Given the description of an element on the screen output the (x, y) to click on. 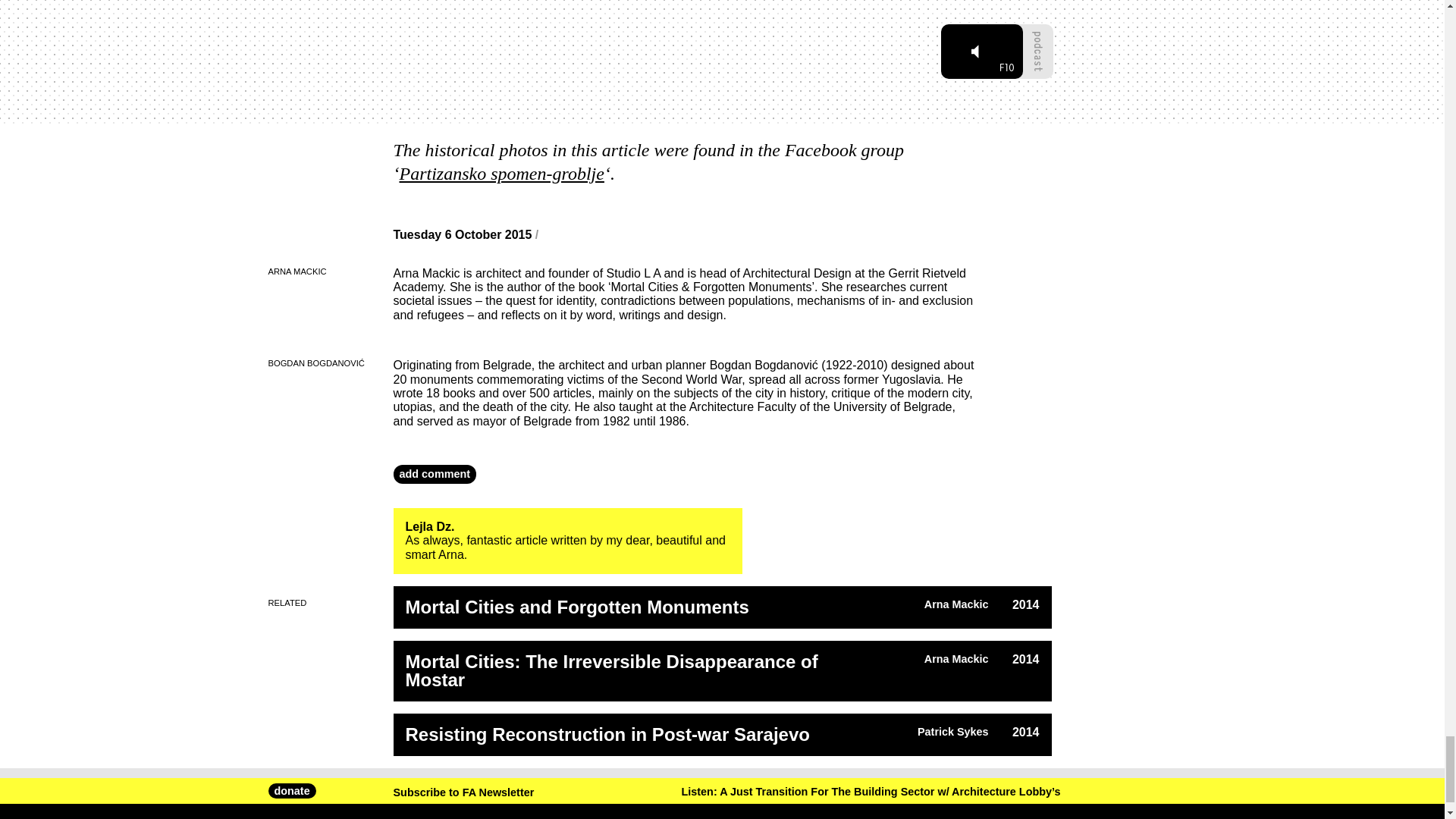
Arna Mackic (956, 604)
ARNA MACKIC (296, 271)
Mortal Cities and Forgotten Monuments (642, 607)
Patrick Sykes (952, 731)
Partizansko spomen-groblje (501, 173)
Contribute (882, 799)
Posts by Patrick Sykes (952, 731)
Posts by Arna Mackic (956, 604)
Work with us (889, 813)
Arna Mackic (956, 658)
